Given the description of an element on the screen output the (x, y) to click on. 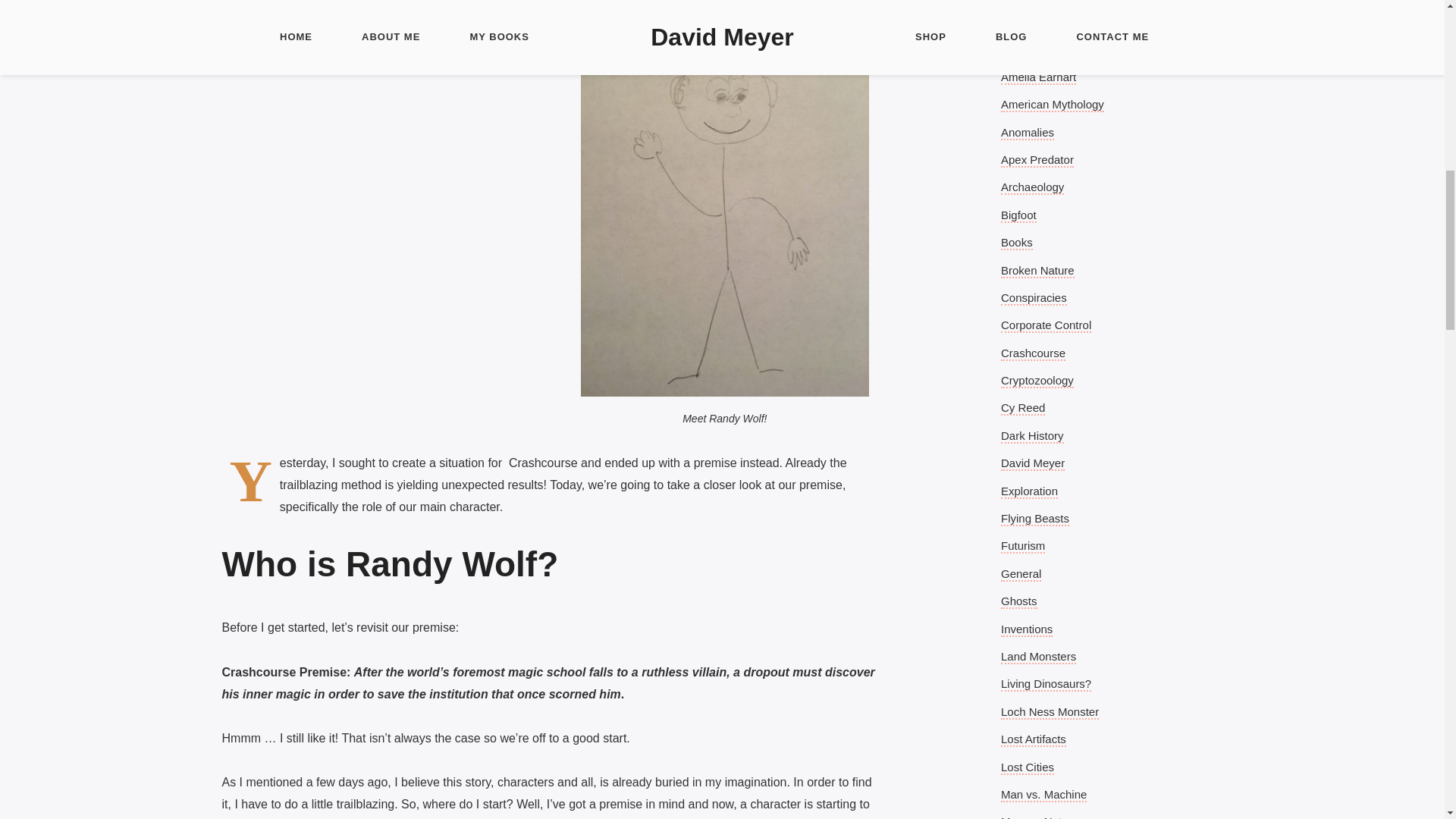
Broken Nature (1037, 270)
Books (1016, 242)
Anomalies (1027, 133)
Amelia Earhart (1038, 77)
Bigfoot (1018, 215)
Corporate Control (1045, 325)
Archaeology (1032, 187)
Conspiracies (1034, 298)
Apex Predator (1037, 160)
Crashcourse (1033, 353)
American Mythology (1052, 104)
Adventure (1026, 49)
